Given the description of an element on the screen output the (x, y) to click on. 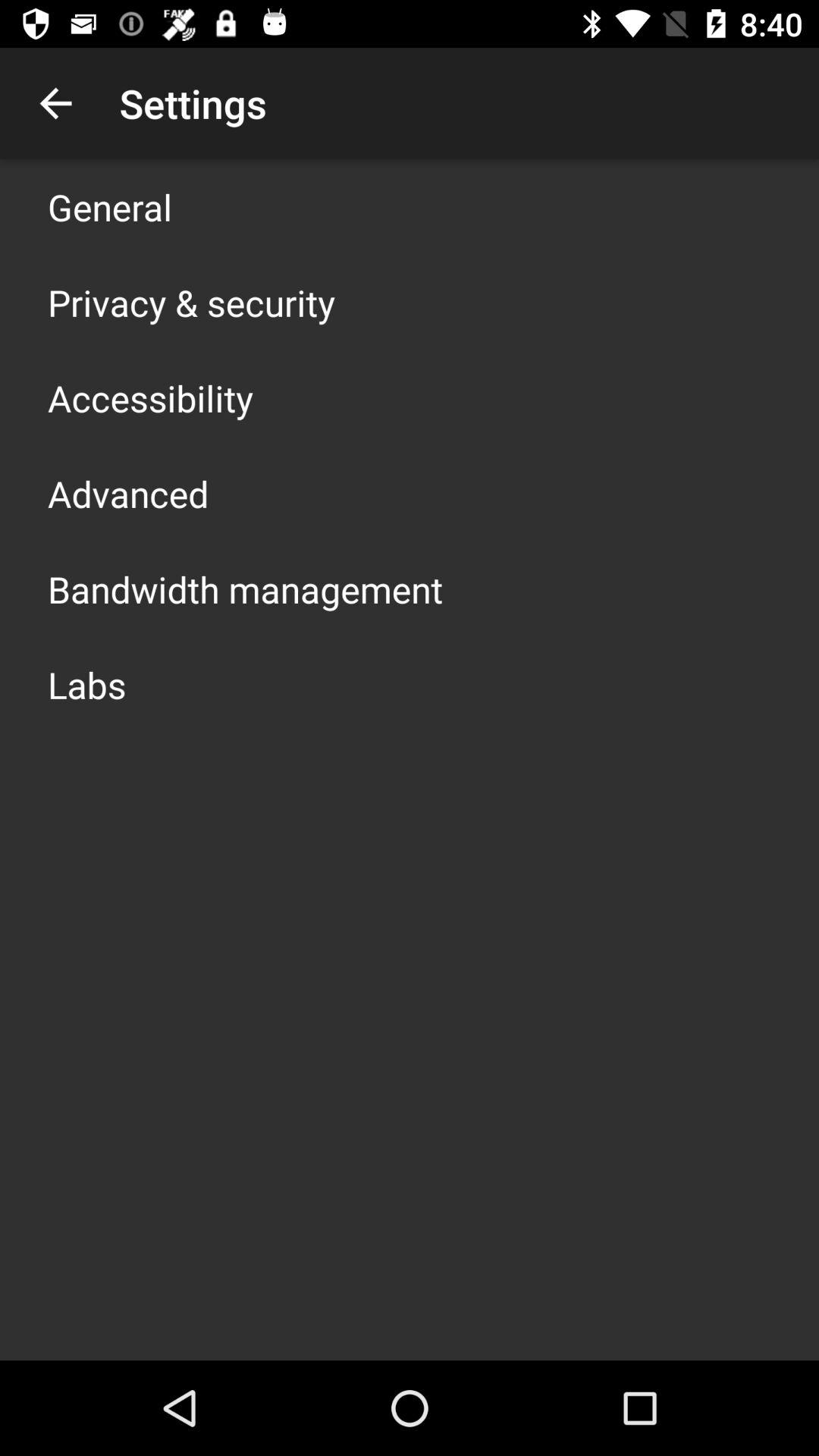
select item below general icon (190, 302)
